Given the description of an element on the screen output the (x, y) to click on. 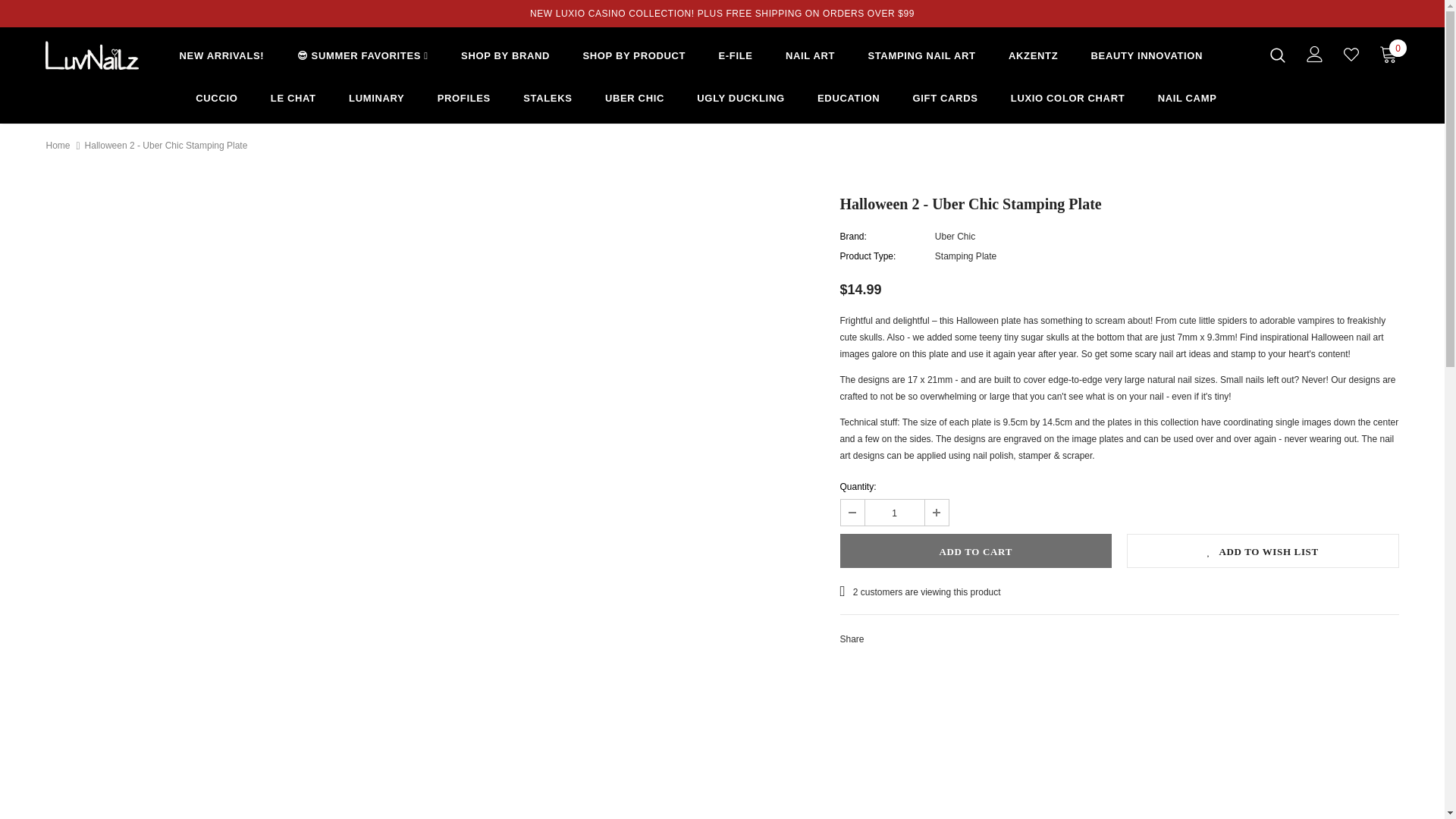
NEW ARRIVALS! (221, 58)
1 (893, 512)
SHOP BY BRAND (505, 58)
Add to Cart (976, 550)
